Given the description of an element on the screen output the (x, y) to click on. 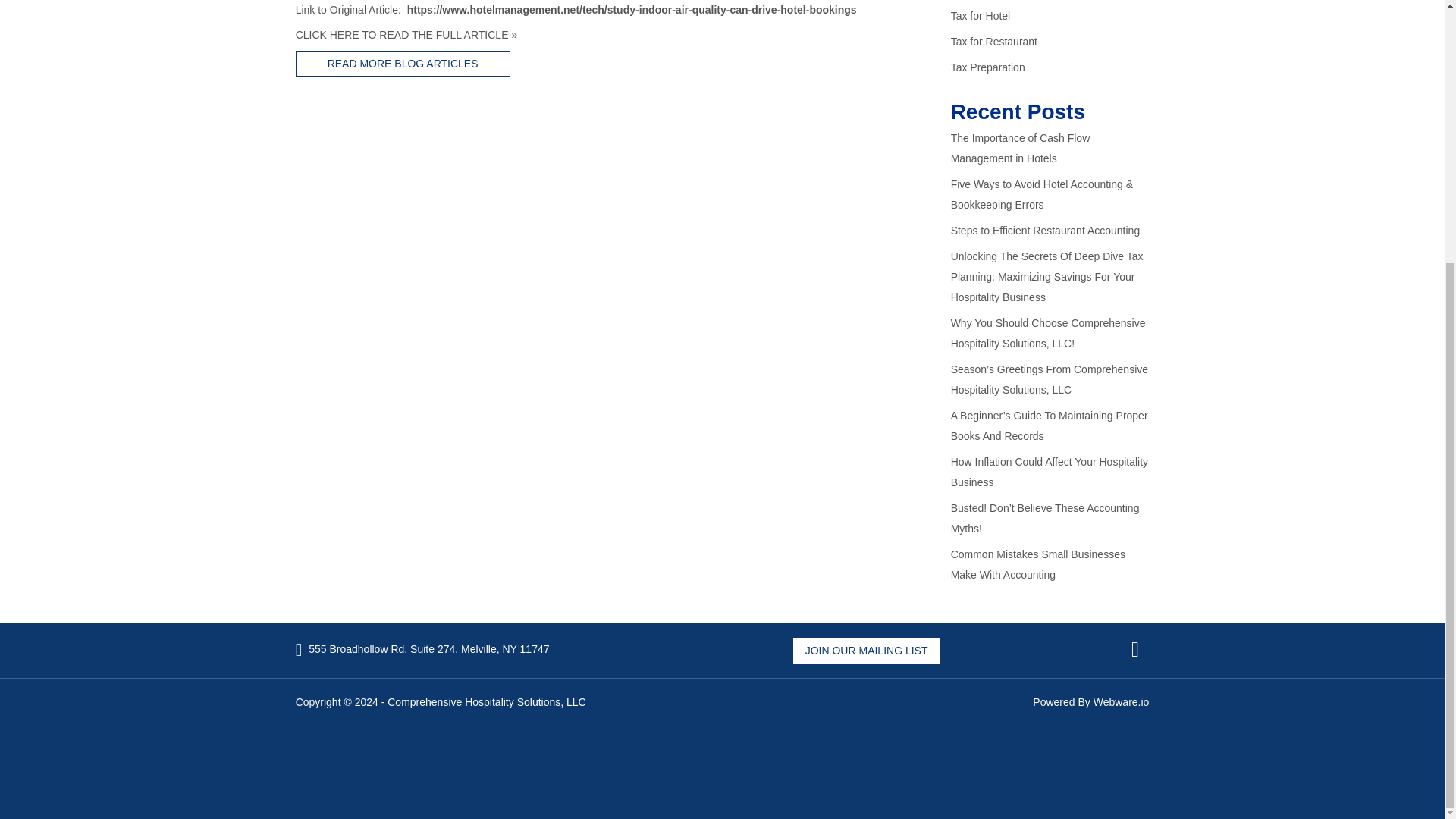
READ MORE BLOG ARTICLES (403, 63)
